Given the description of an element on the screen output the (x, y) to click on. 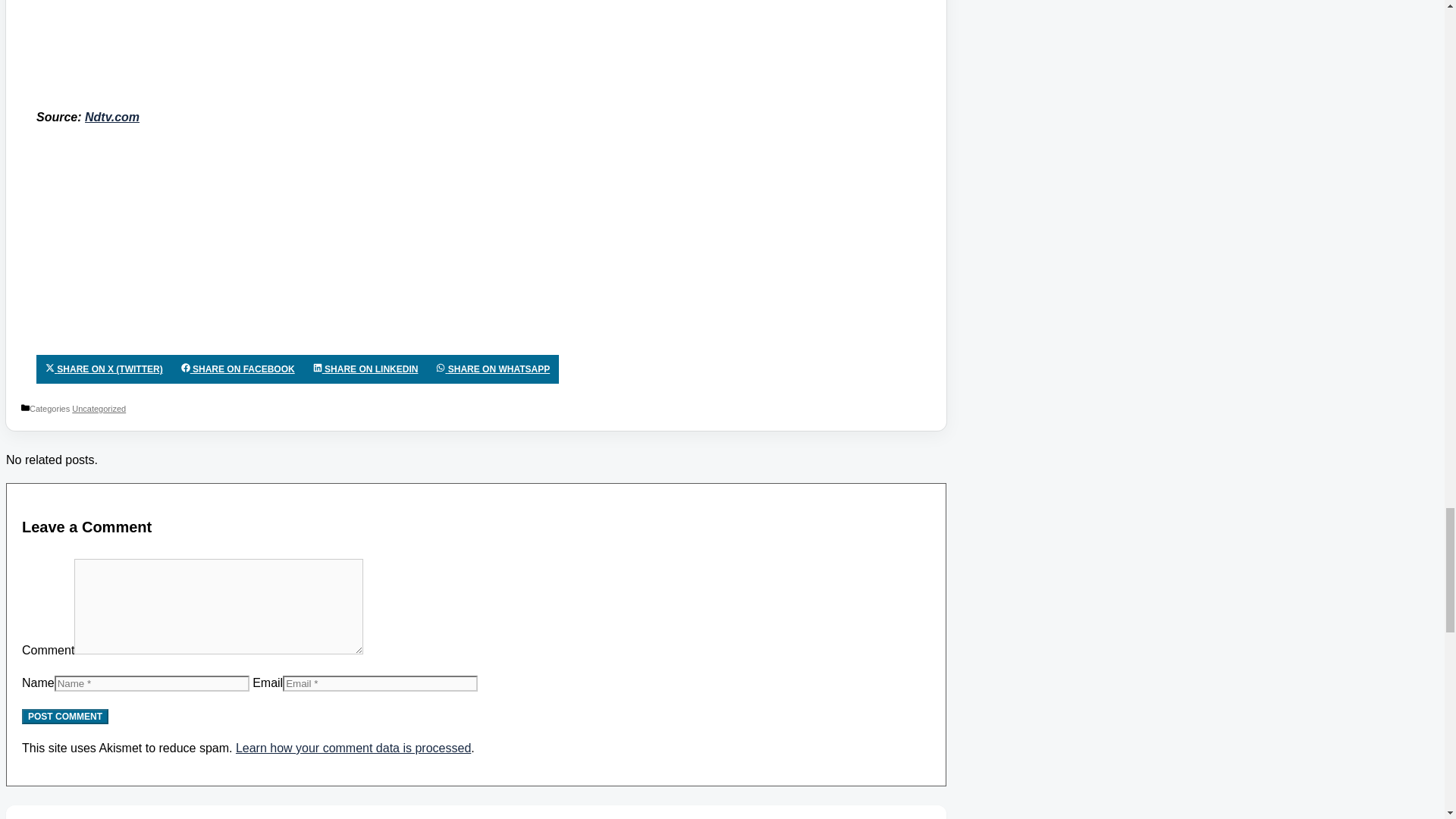
SHARE ON FACEBOOK (237, 369)
Uncategorized (98, 408)
Ndtv.com (111, 116)
SHARE ON WHATSAPP (492, 369)
Post Comment (64, 716)
Post Comment (64, 716)
SHARE ON LINKEDIN (366, 369)
